Given the description of an element on the screen output the (x, y) to click on. 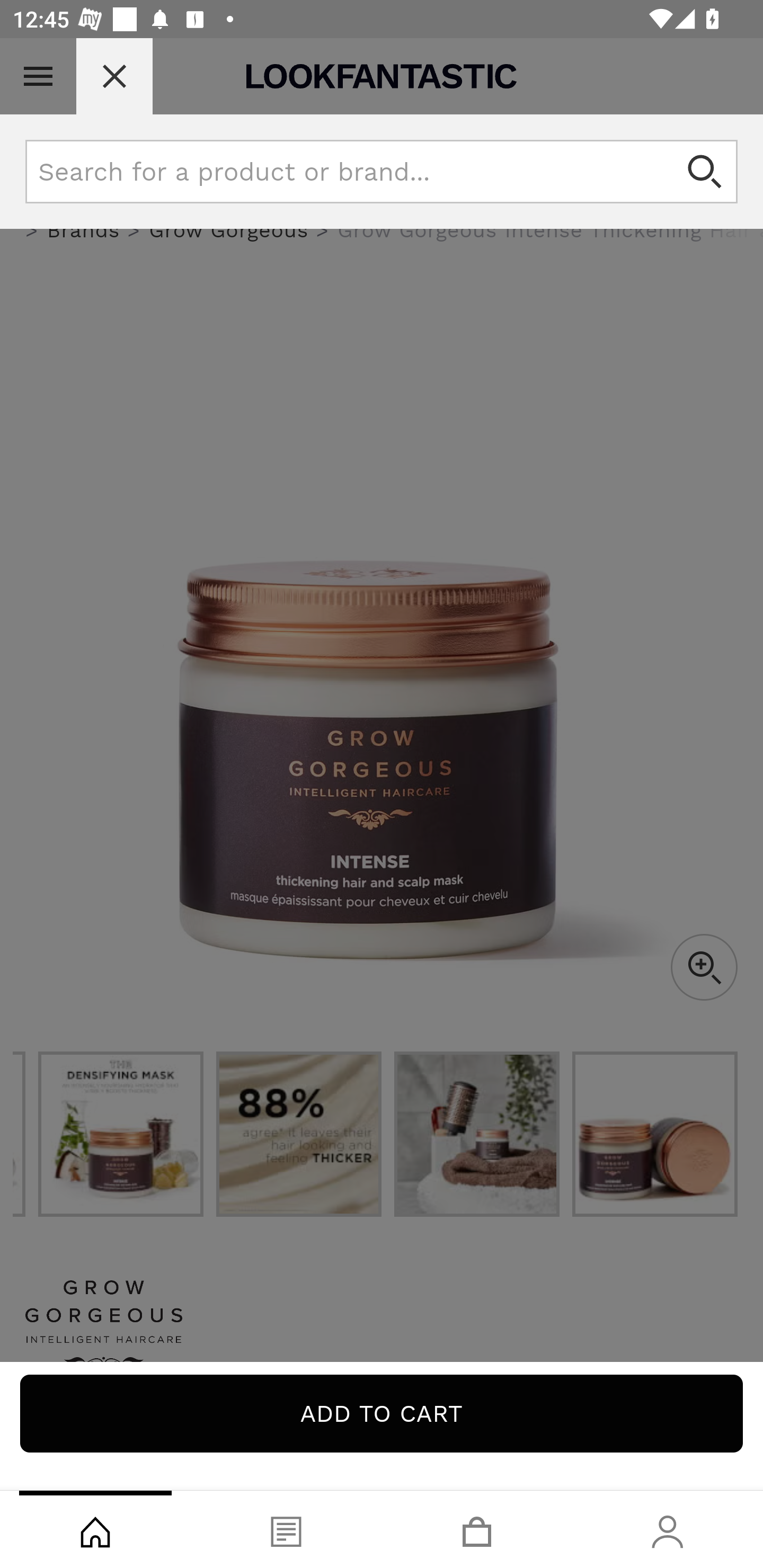
Close search (114, 75)
Start search (705, 171)
Add to cart (381, 1413)
Shop, tab, 1 of 4 (95, 1529)
Blog, tab, 2 of 4 (285, 1529)
Basket, tab, 3 of 4 (476, 1529)
Account, tab, 4 of 4 (667, 1529)
